Given the description of an element on the screen output the (x, y) to click on. 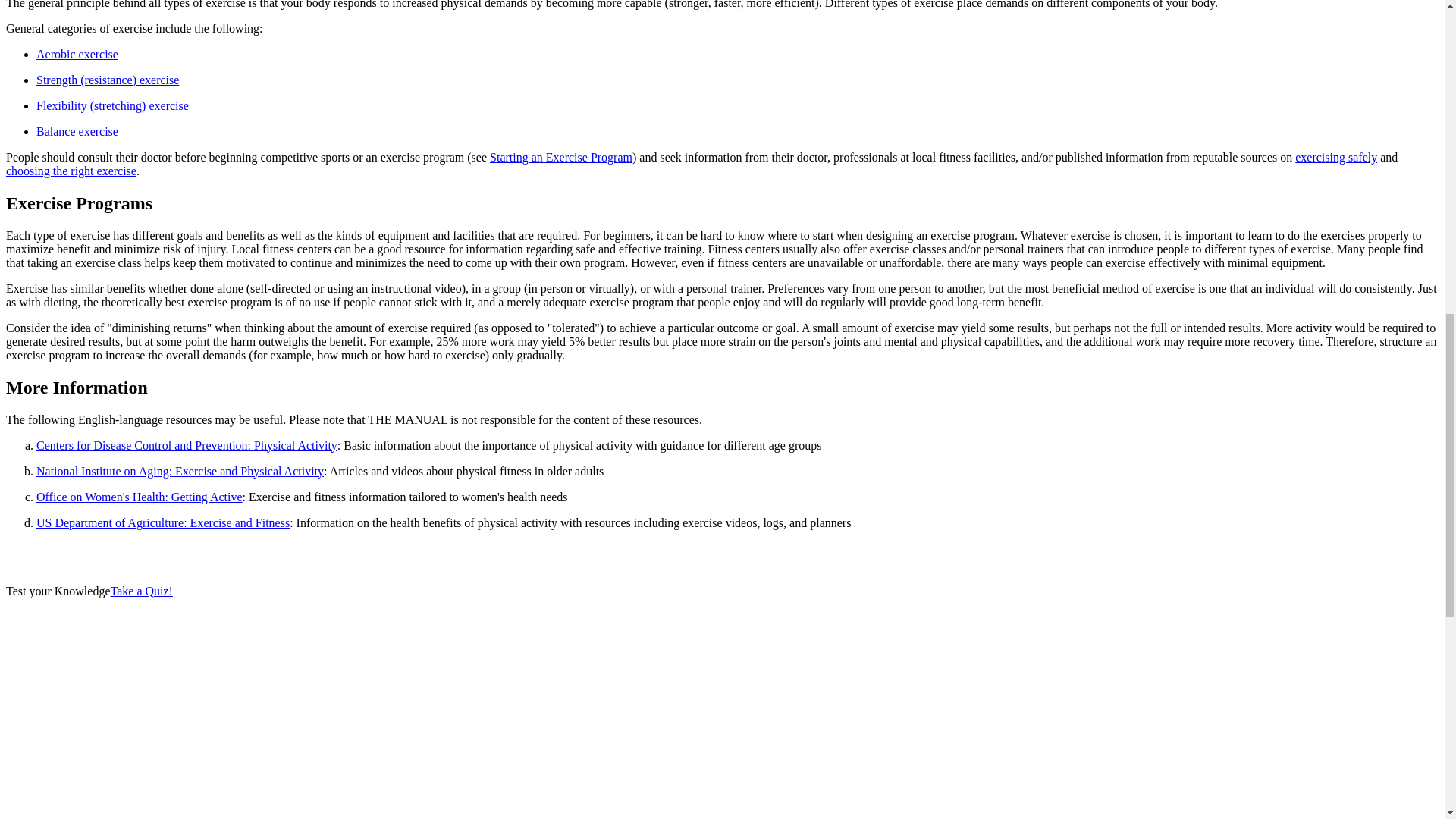
Starting an Exercise Program (560, 156)
Aerobic exercise (76, 53)
Balance exercise (76, 131)
